Given the description of an element on the screen output the (x, y) to click on. 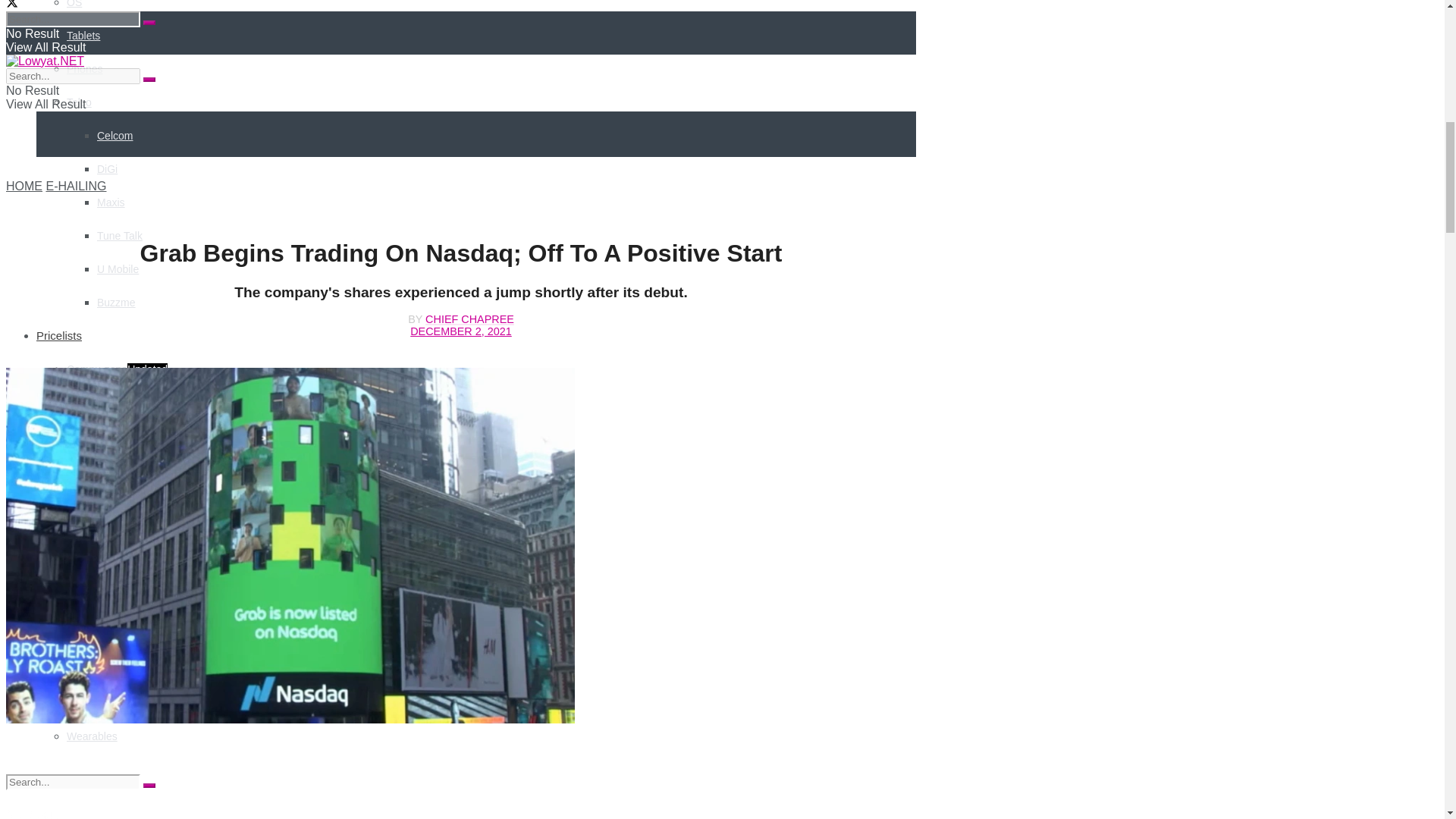
Tune Talk (119, 235)
Celcom (114, 135)
Maxis (111, 202)
OS (73, 4)
DiGi (107, 168)
Phones (83, 69)
Telco (78, 102)
Tablets (83, 35)
